Given the description of an element on the screen output the (x, y) to click on. 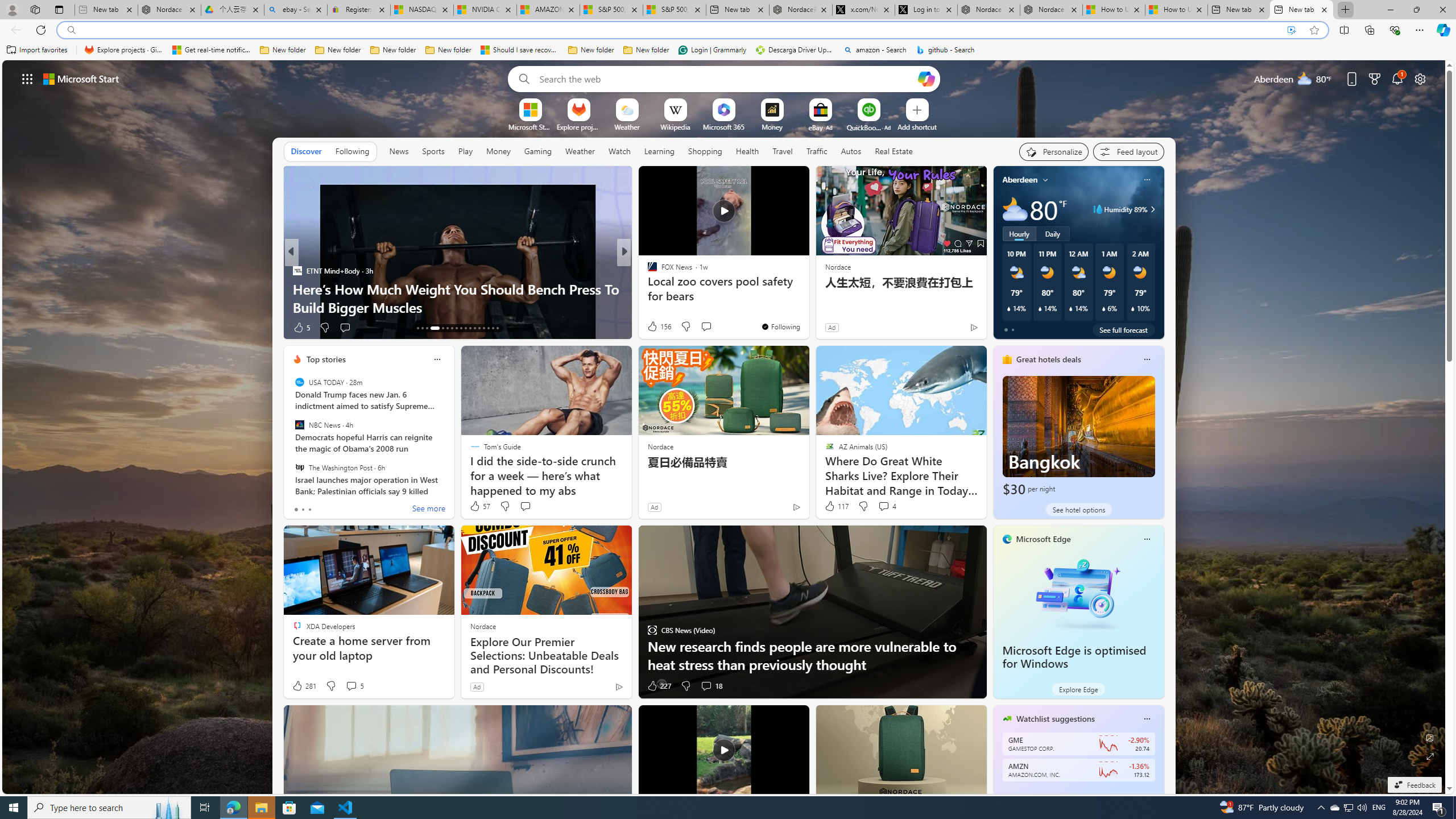
S&P 500, Nasdaq end lower, weighed by Nvidia dip | Watch (673, 9)
AutomationID: waffle (27, 78)
CNN (647, 270)
View comments 98 Comment (6, 327)
